Given the description of an element on the screen output the (x, y) to click on. 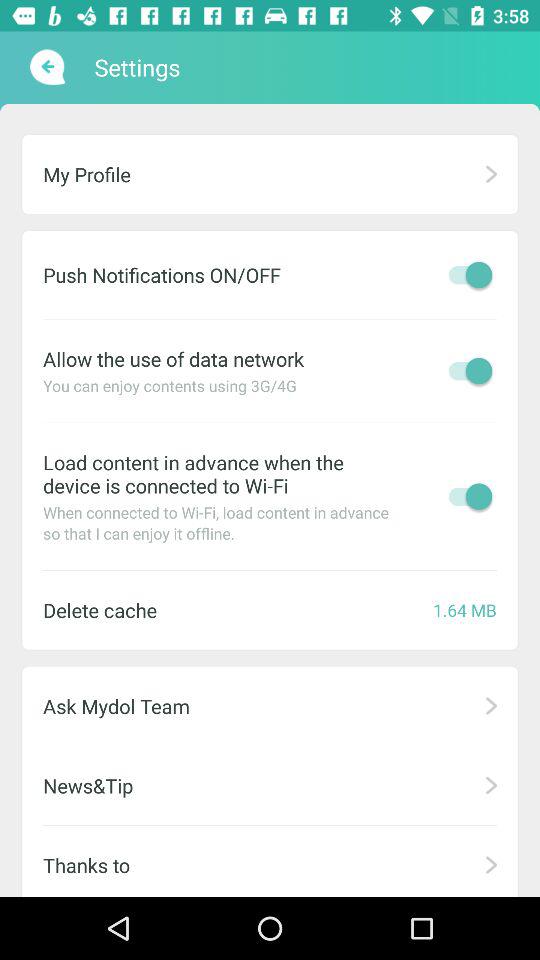
toggle to turn wifi loading settings on or off (465, 496)
